Given the description of an element on the screen output the (x, y) to click on. 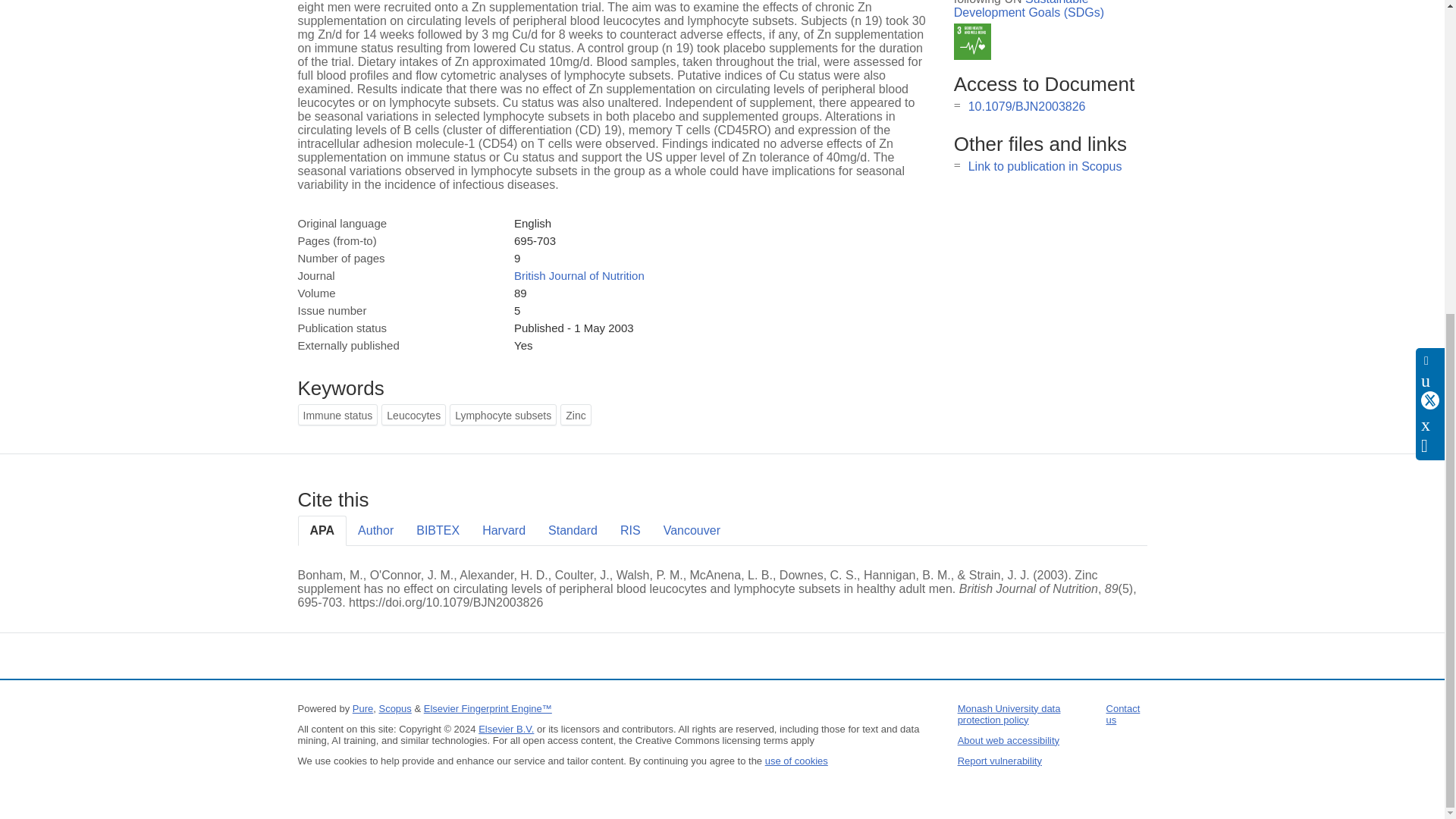
British Journal of Nutrition (579, 275)
Scopus (394, 708)
SDG 3 - Good Health and Well-being (972, 41)
About web accessibility (1008, 740)
Contact us (1123, 713)
use of cookies (796, 760)
Report vulnerability (1000, 760)
Pure (362, 708)
Link to publication in Scopus (1045, 165)
Elsevier B.V. (506, 728)
